Given the description of an element on the screen output the (x, y) to click on. 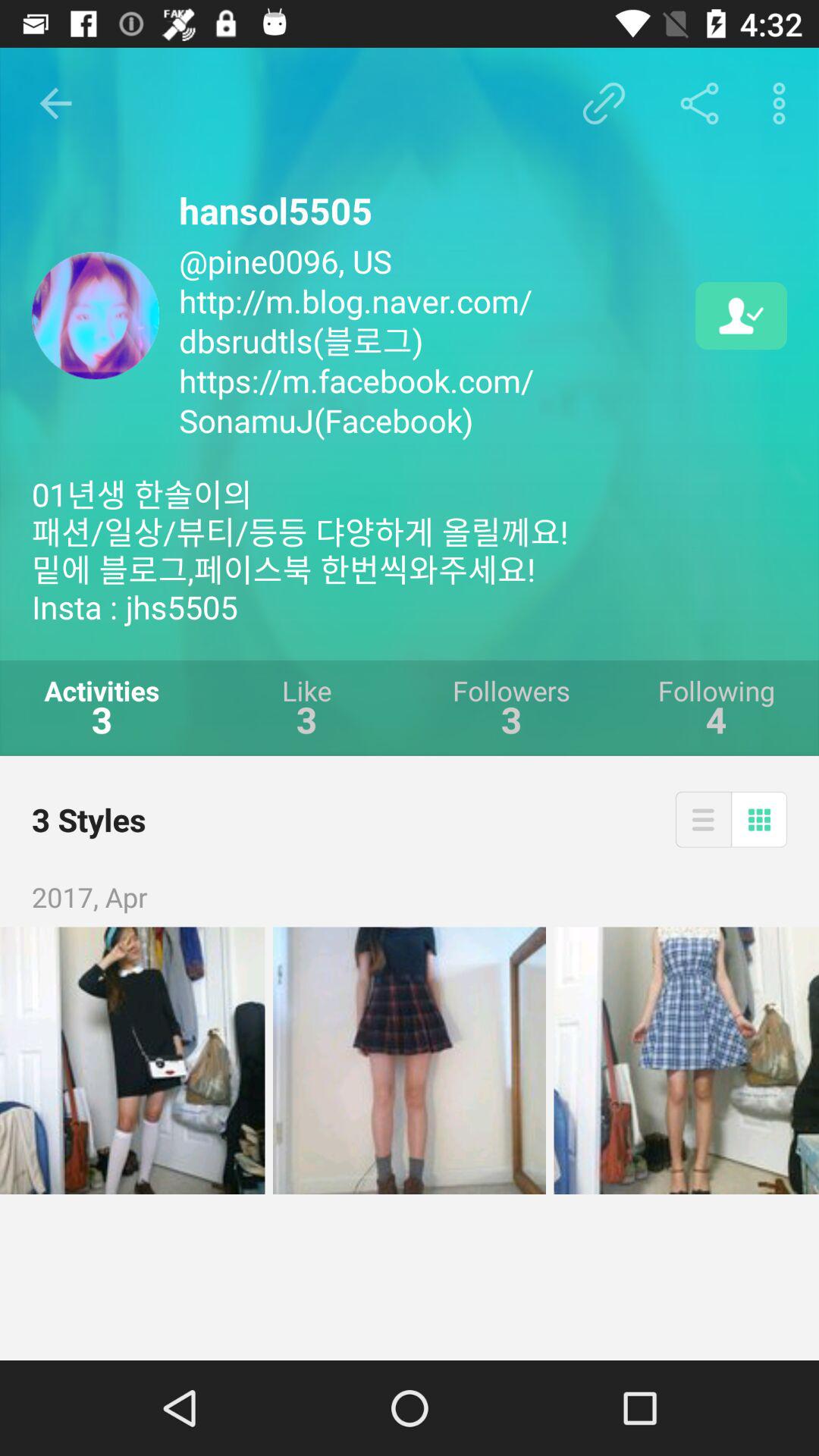
launch the icon above 2017, apr item (759, 819)
